Given the description of an element on the screen output the (x, y) to click on. 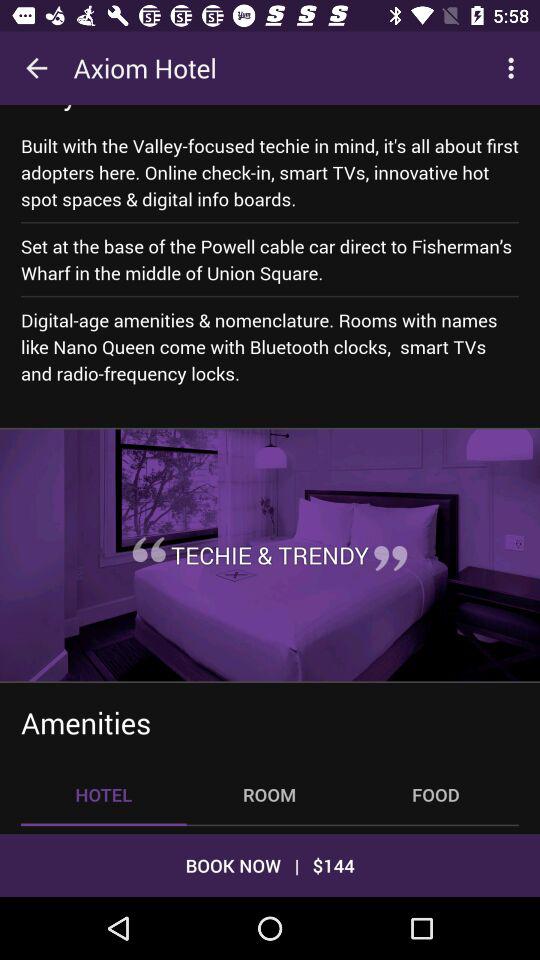
open icon to the right of the hotel (269, 794)
